Given the description of an element on the screen output the (x, y) to click on. 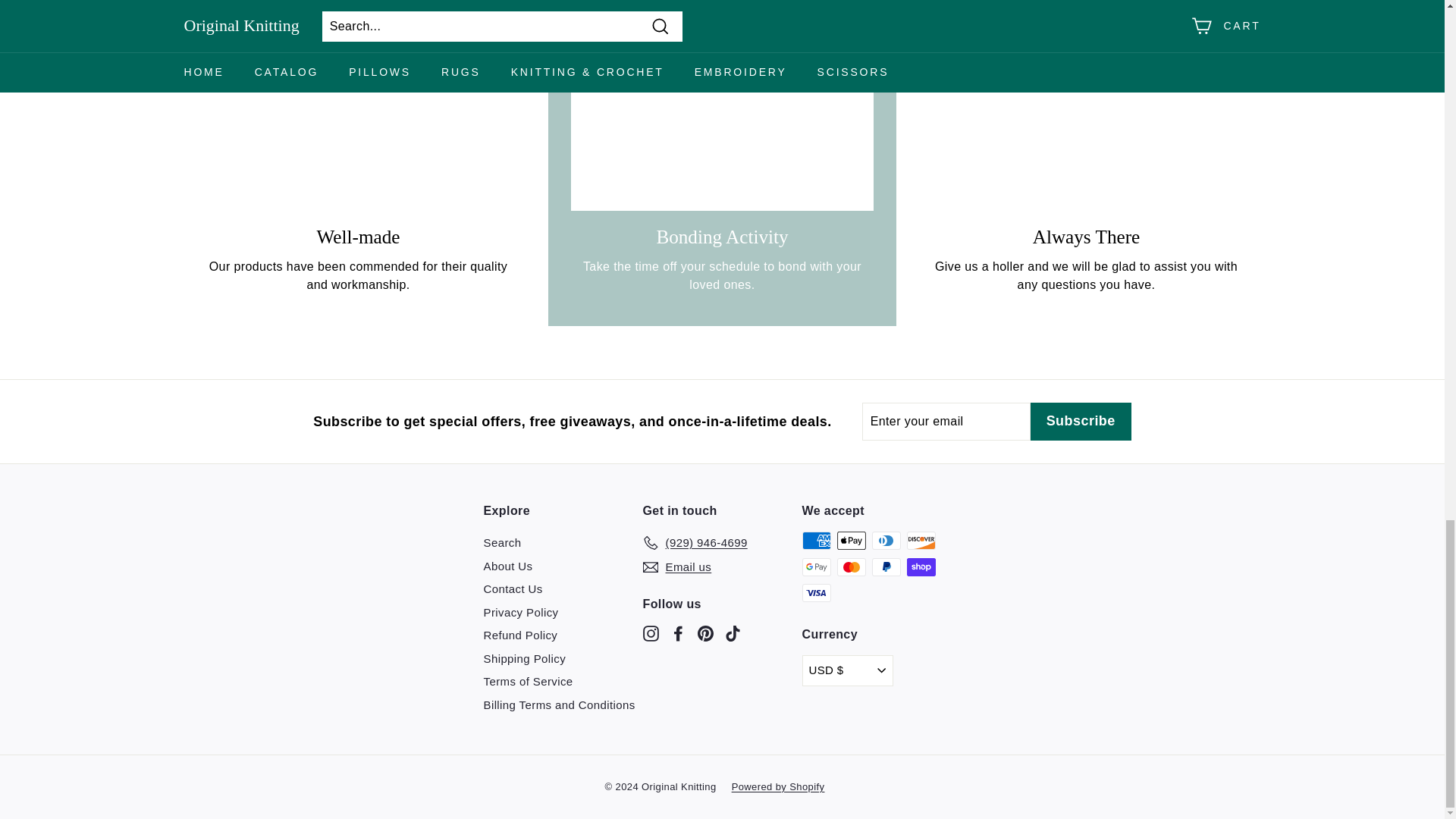
Original Knitting on Instagram (651, 633)
Original Knitting on Pinterest (705, 633)
Original Knitting on TikTok (733, 633)
American Express (816, 540)
Original Knitting on Facebook (677, 633)
